Given the description of an element on the screen output the (x, y) to click on. 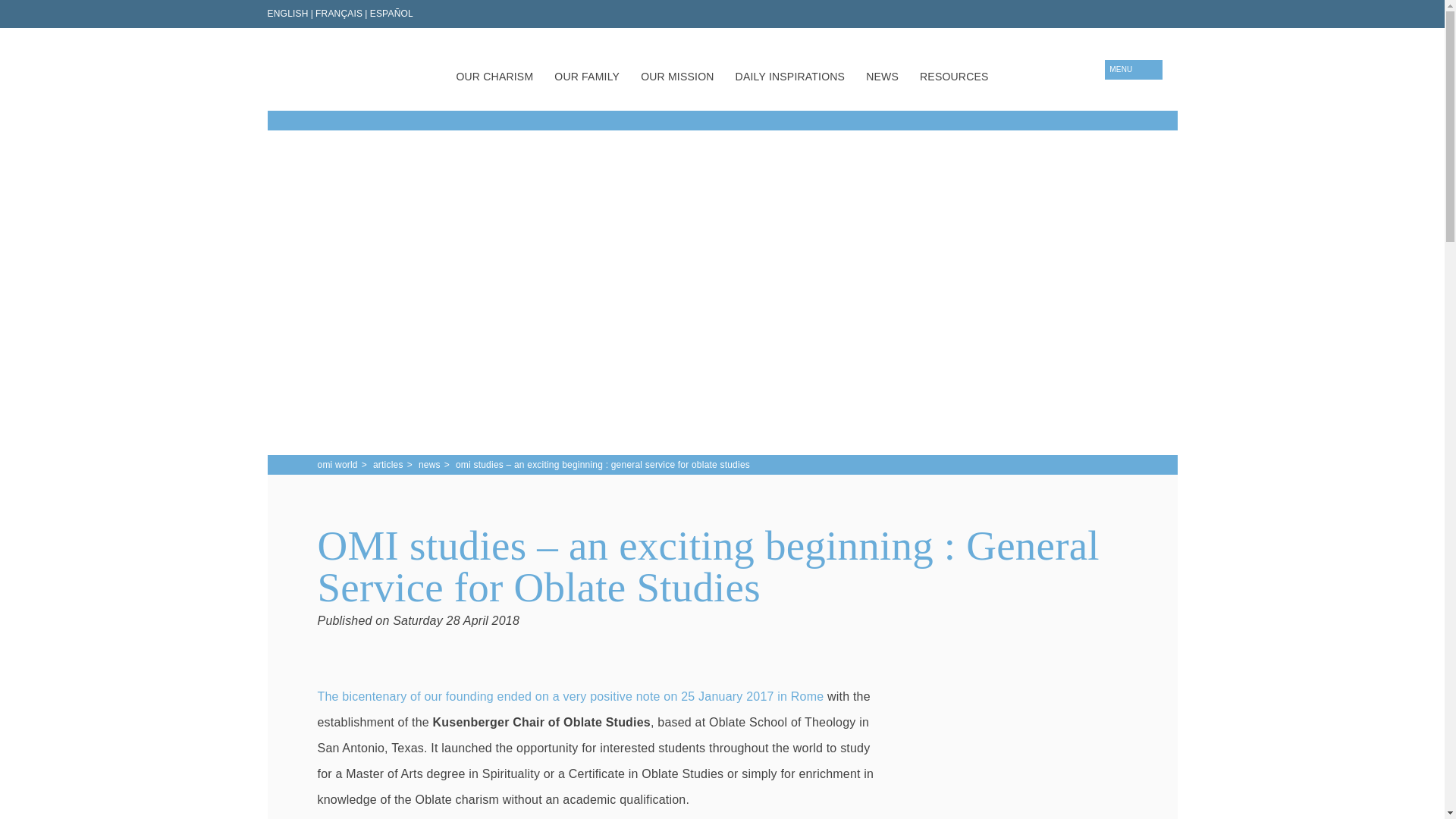
Go to the News category archives. (430, 465)
OMI (318, 68)
Go to Articles. (387, 465)
OUR CHARISM (494, 78)
Go to OMI World. (336, 465)
